Given the description of an element on the screen output the (x, y) to click on. 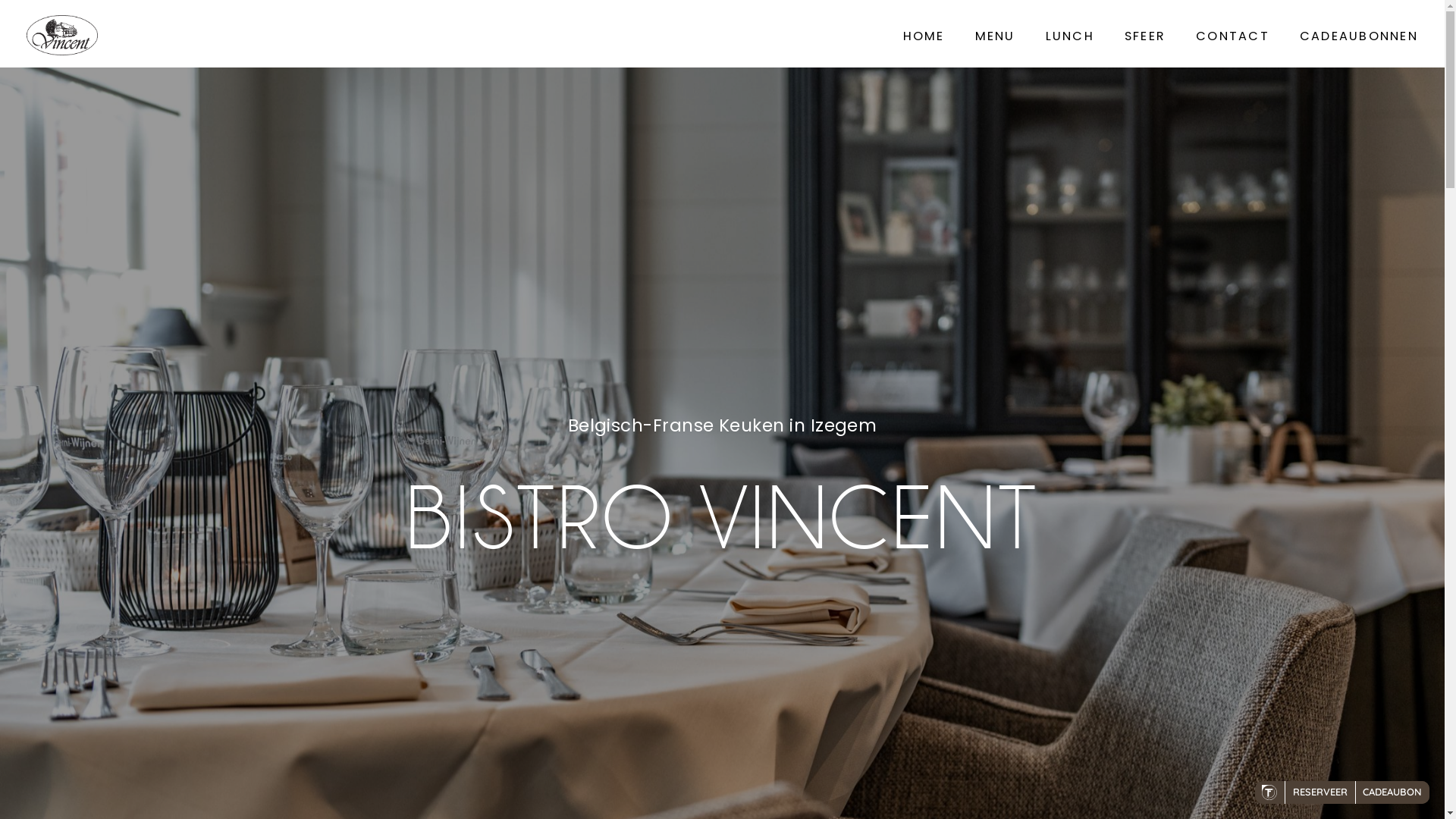
SFEER Element type: text (1144, 35)
CADEAUBONNEN Element type: text (1358, 35)
LUNCH Element type: text (1069, 35)
CONTACT Element type: text (1232, 35)
HOME Element type: text (923, 35)
MENU Element type: text (995, 35)
